Given the description of an element on the screen output the (x, y) to click on. 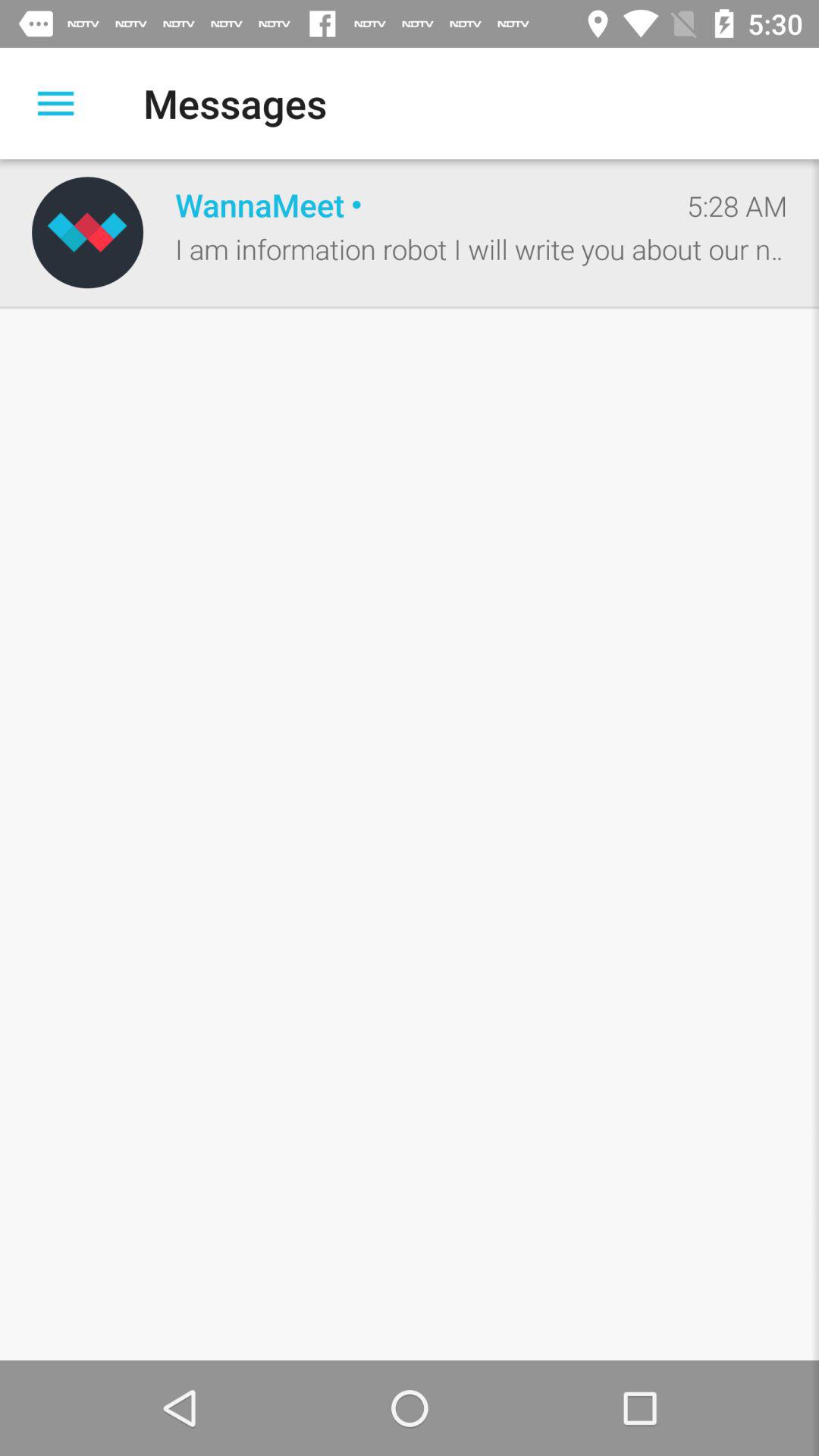
tap the icon next to messages item (55, 103)
